Given the description of an element on the screen output the (x, y) to click on. 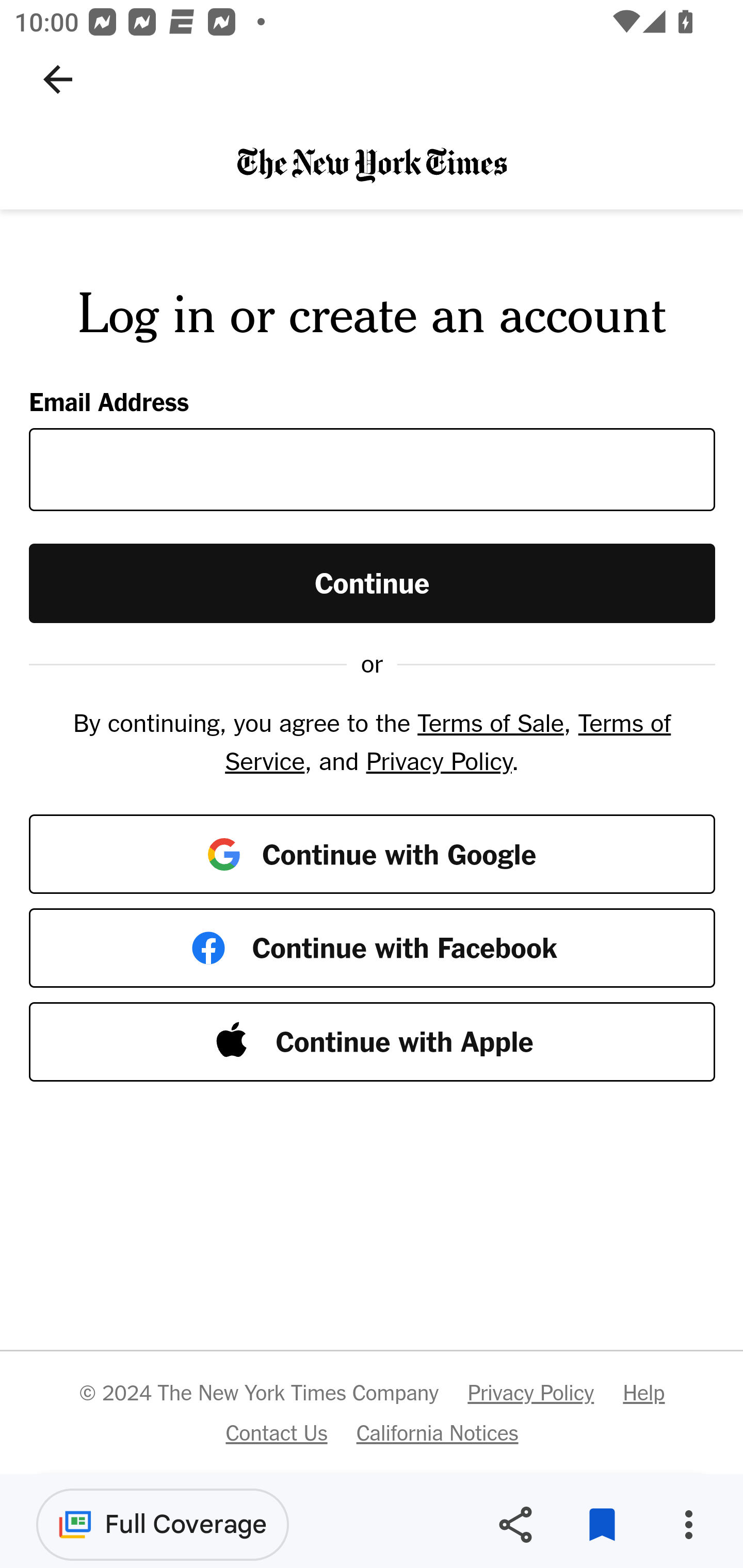
Navigate up (57, 79)
The New York Times (371, 164)
Continue (372, 582)
Terms of Service (447, 741)
Terms of Sale (490, 722)
Privacy Policy (438, 760)
Continue with Google (372, 853)
Continue with Facebook (372, 947)
Continue with Apple (372, 1041)
Privacy Policy (530, 1392)
Help (643, 1392)
Contact Us (275, 1432)
California Notices (437, 1432)
Share (514, 1524)
Remove from saved stories (601, 1524)
More options (688, 1524)
Full Coverage (162, 1524)
